Given the description of an element on the screen output the (x, y) to click on. 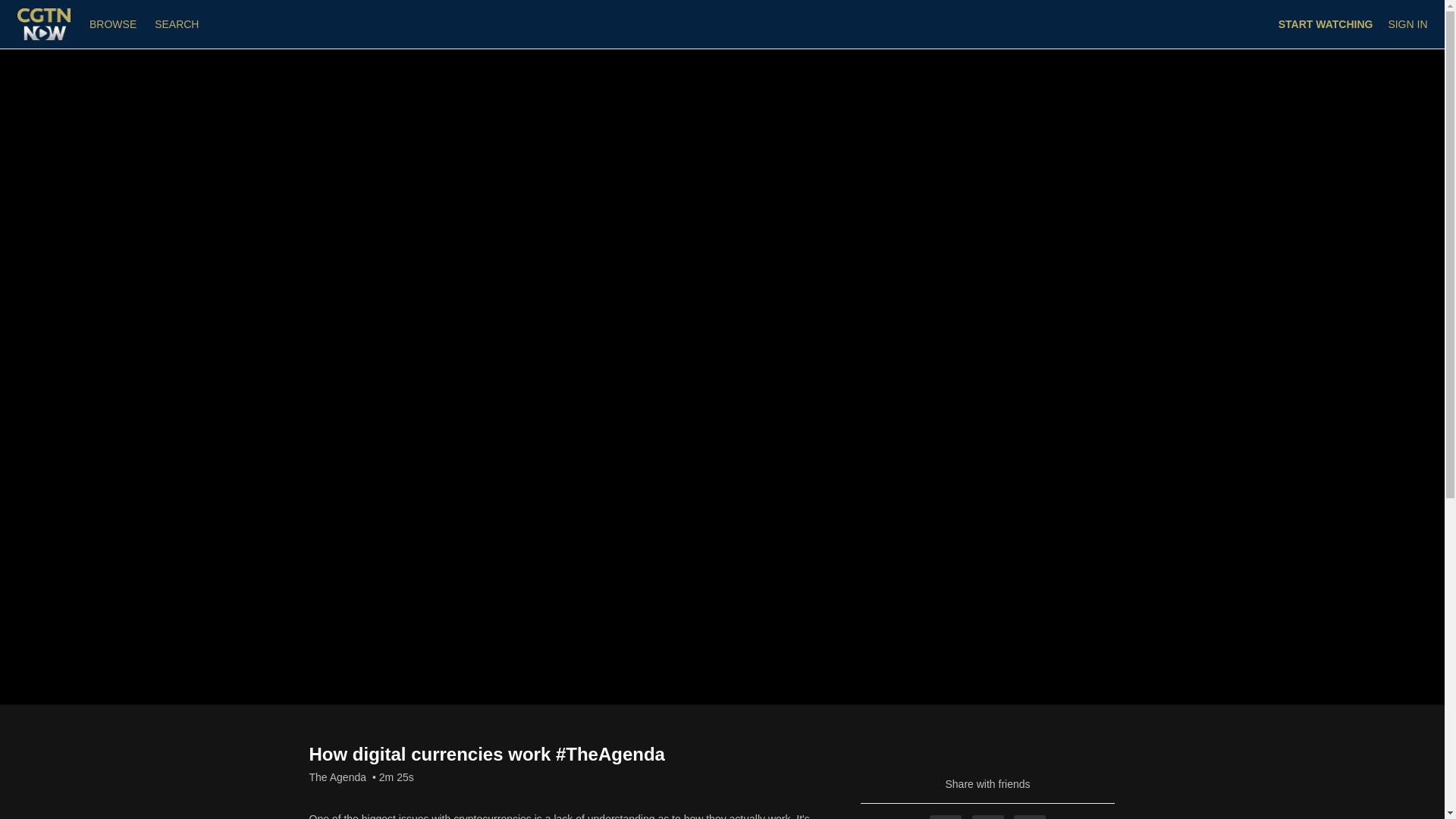
Skip to main content (48, 7)
The Agenda (337, 776)
Twitter (988, 816)
Email (1029, 816)
SIGN IN (1406, 24)
START WATCHING (1325, 24)
Facebook (945, 816)
SEARCH (176, 24)
BROWSE (114, 24)
